Given the description of an element on the screen output the (x, y) to click on. 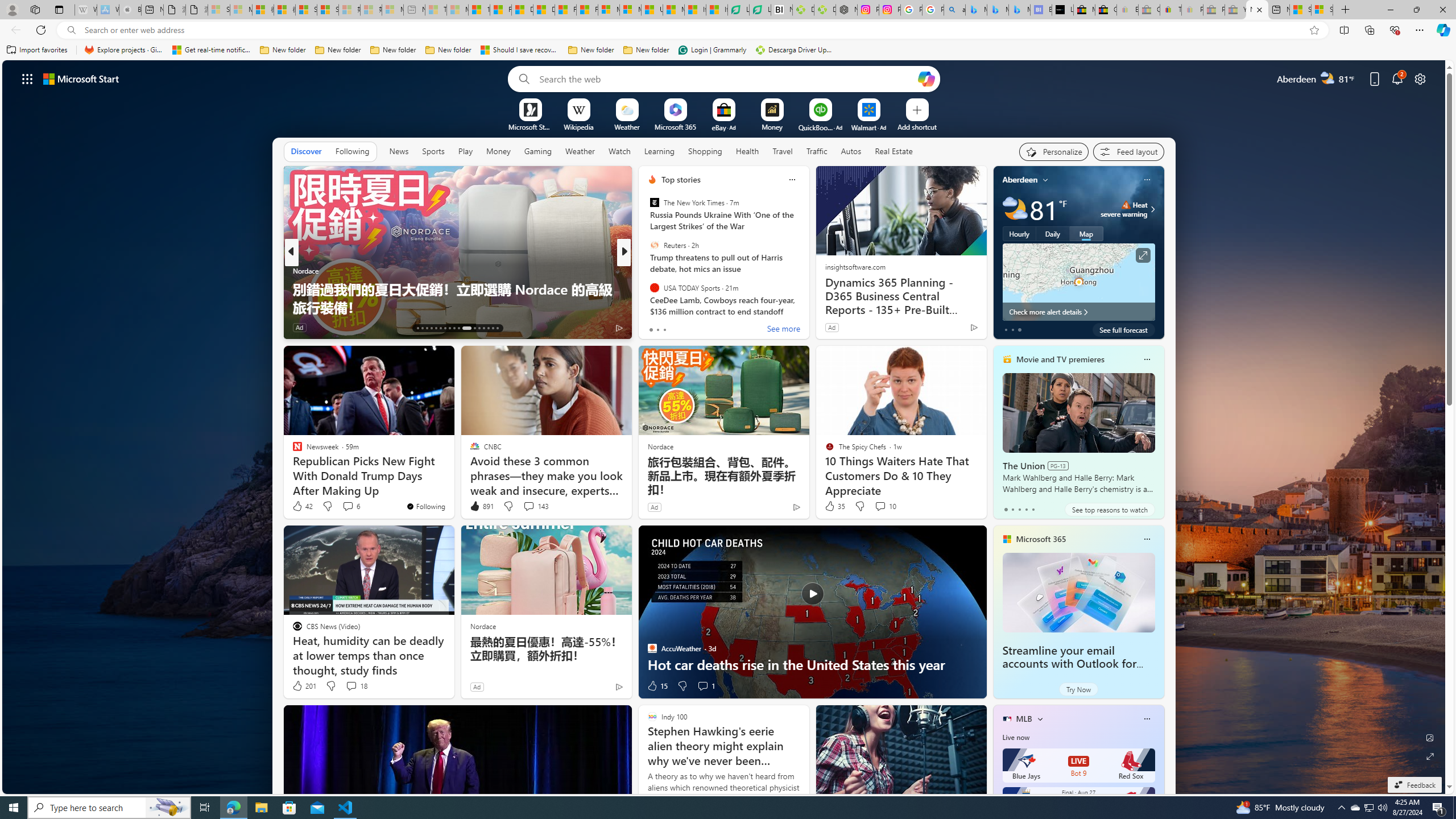
View comments 460 Comment (709, 327)
42 Like (301, 505)
See full forecast (1123, 329)
House Beautiful (647, 270)
Login | Grammarly (712, 49)
Food and Drink - MSN (500, 9)
View comments 3 Comment (703, 327)
Heat - Severe Heat severe warning (1123, 208)
Learn Singing & Healing at the same time (807, 307)
